Given the description of an element on the screen output the (x, y) to click on. 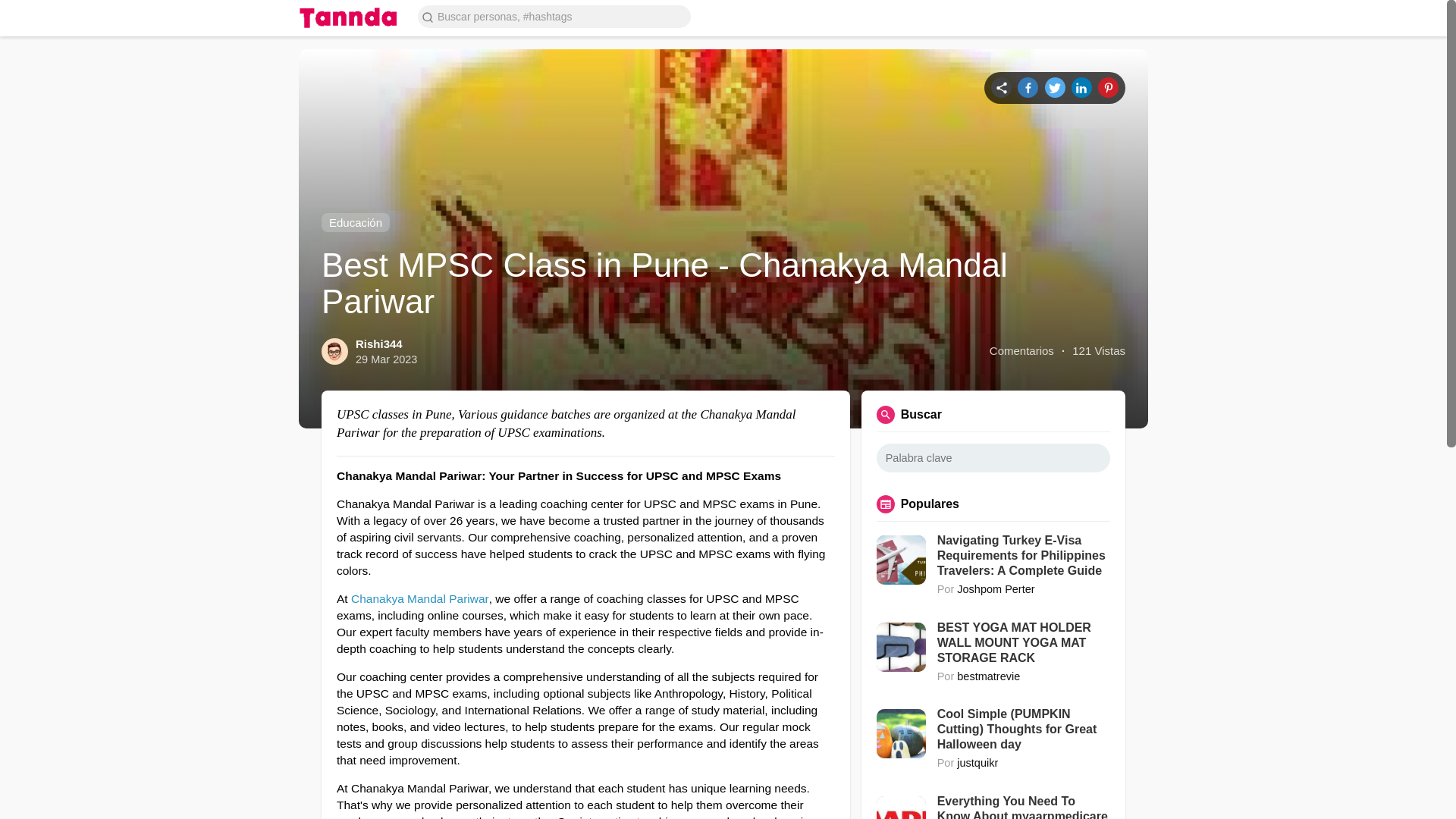
BEST YOGA MAT HOLDER WALL MOUNT YOGA MAT STORAGE RACK (1023, 642)
Comentarios (1022, 350)
Twitter (1055, 86)
Everything You Need To Know About myaarpmedicare (1023, 806)
invitado (1127, 17)
Facebook (1027, 86)
Joshpom Perter (994, 589)
bestmatrevie (988, 676)
Chanakya Mandal Pariwar (419, 598)
